Given the description of an element on the screen output the (x, y) to click on. 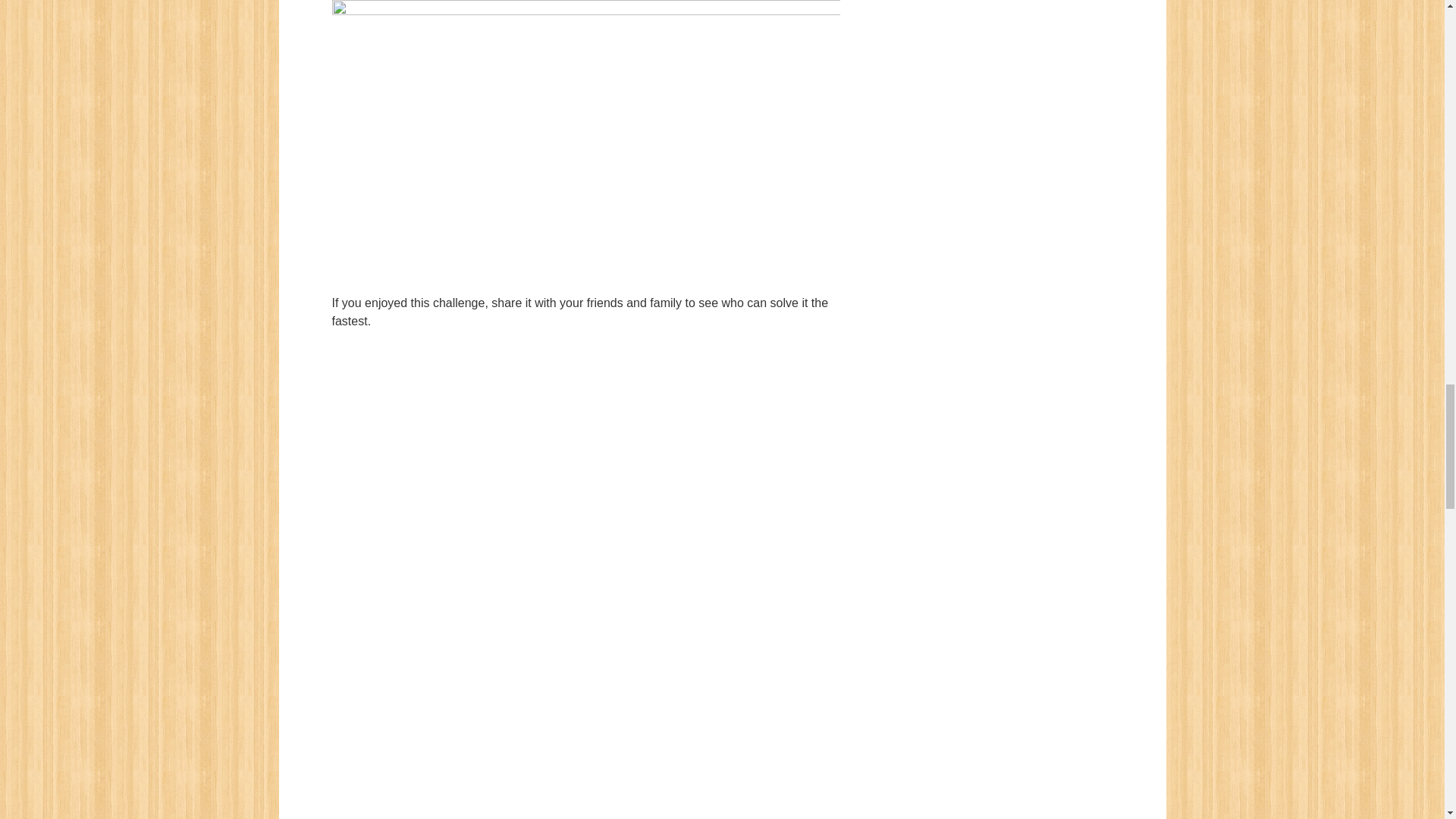
Advertisement (585, 742)
Advertisement (585, 500)
